Given the description of an element on the screen output the (x, y) to click on. 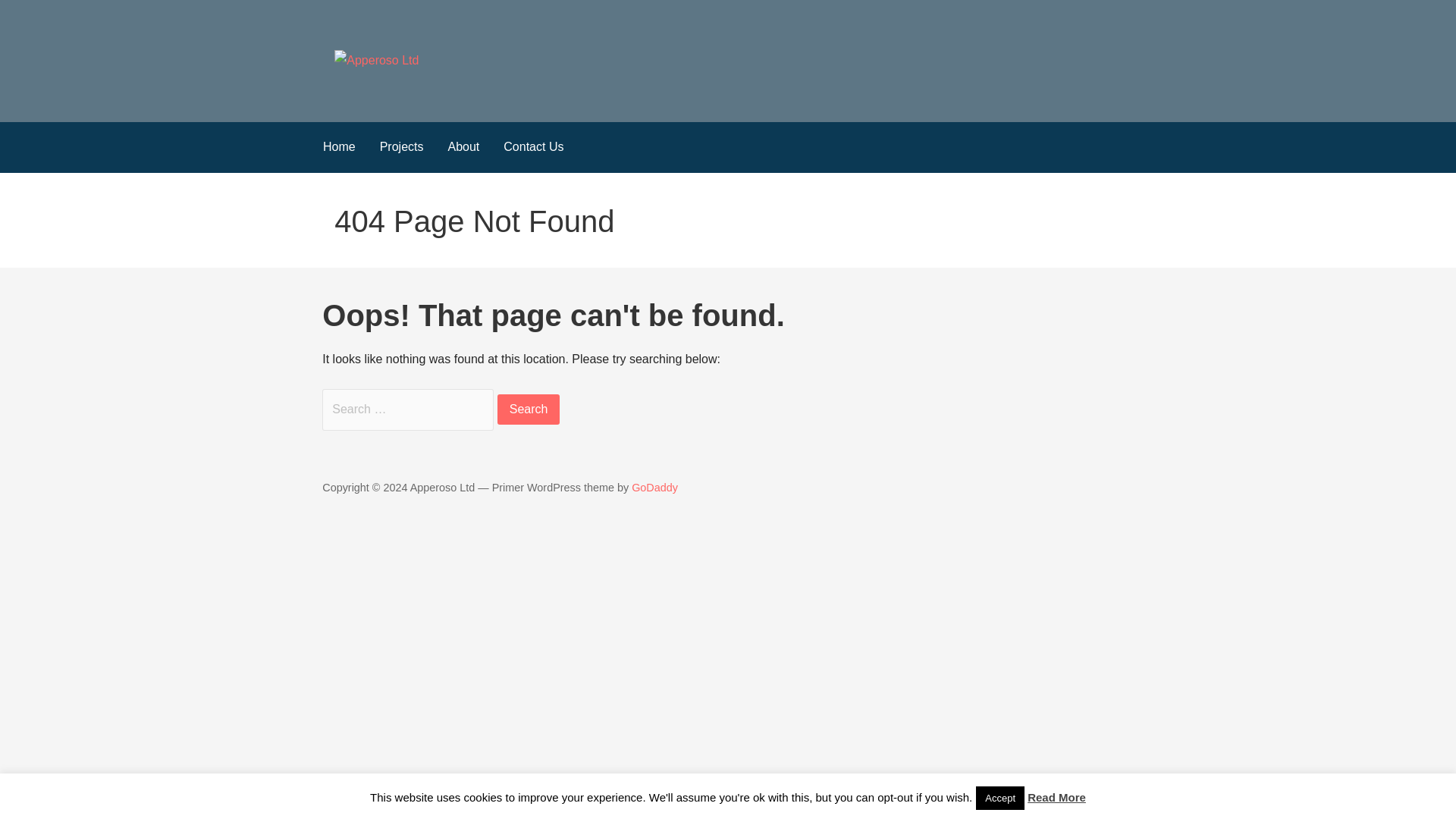
Search (528, 409)
Search (528, 409)
Contact Us (533, 147)
About (463, 147)
Projects (401, 147)
Apperoso Ltd (408, 90)
Search (528, 409)
GoDaddy (654, 487)
Home (339, 147)
